Given the description of an element on the screen output the (x, y) to click on. 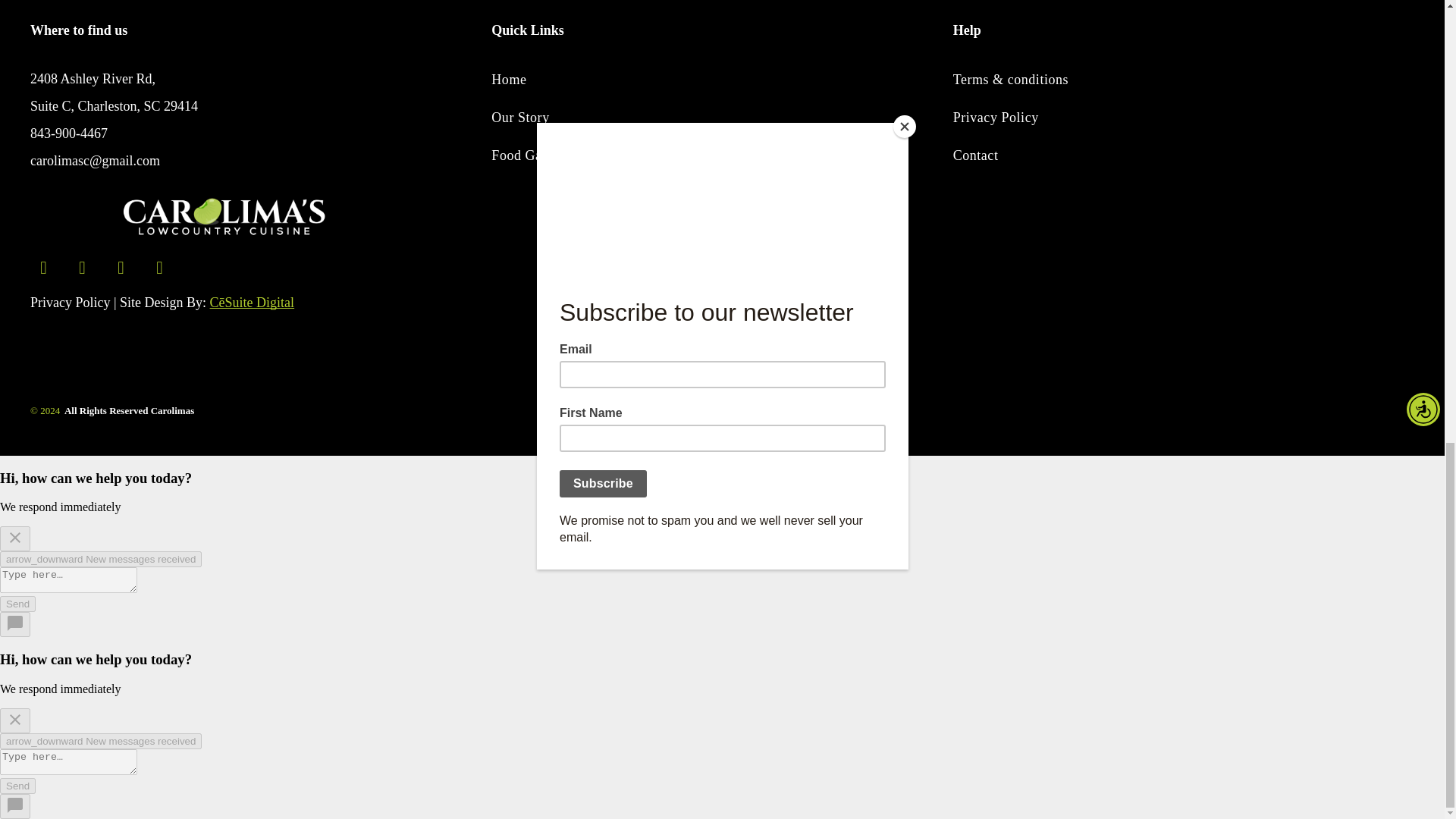
Carolima's Lowcountry Cuisine (223, 216)
